Given the description of an element on the screen output the (x, y) to click on. 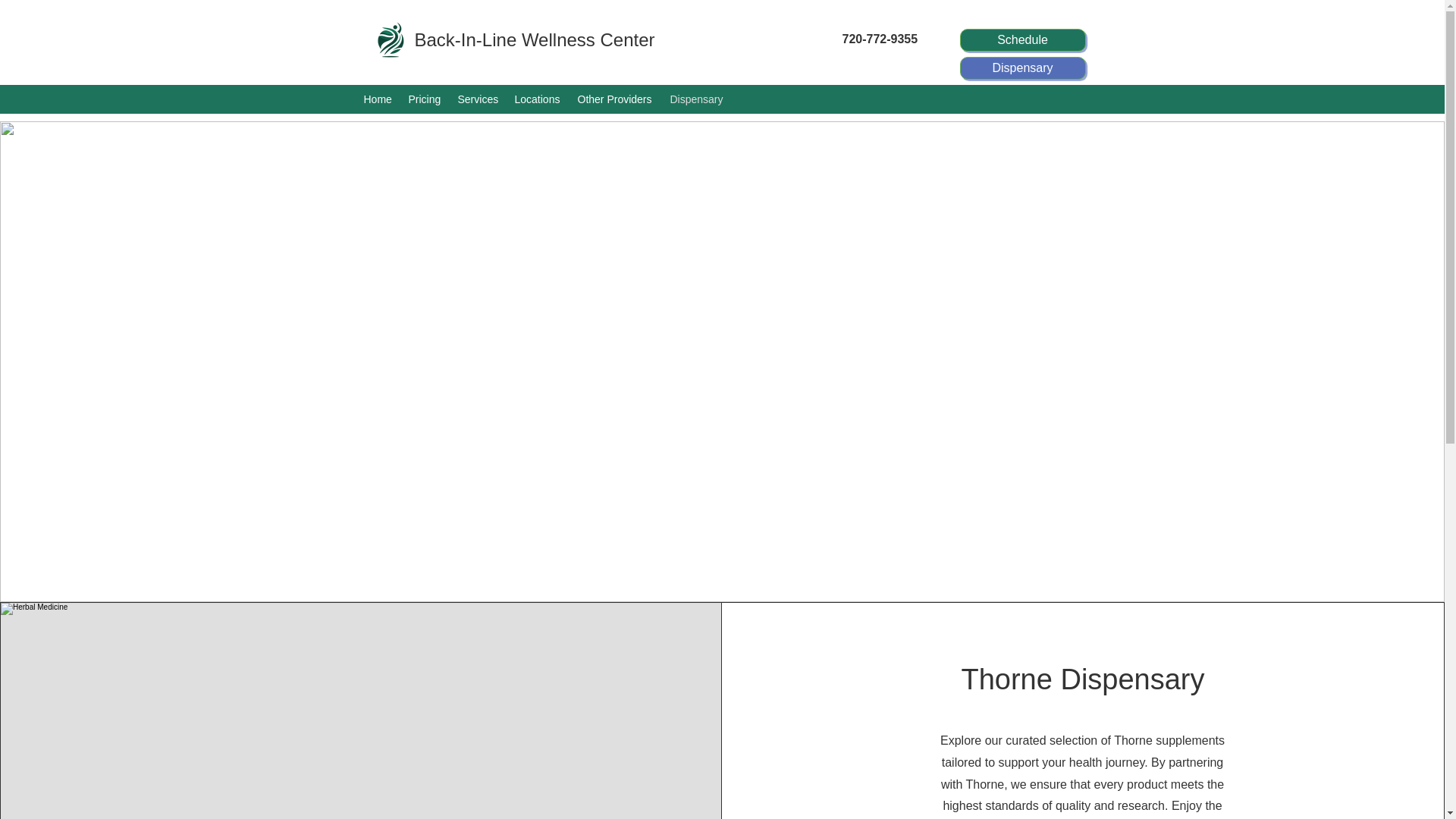
Other Providers (616, 98)
Dispensary (697, 98)
Dispensary (1022, 67)
Schedule (1022, 39)
Services (477, 98)
Pricing (424, 98)
Locations (537, 98)
Home (378, 98)
